Given the description of an element on the screen output the (x, y) to click on. 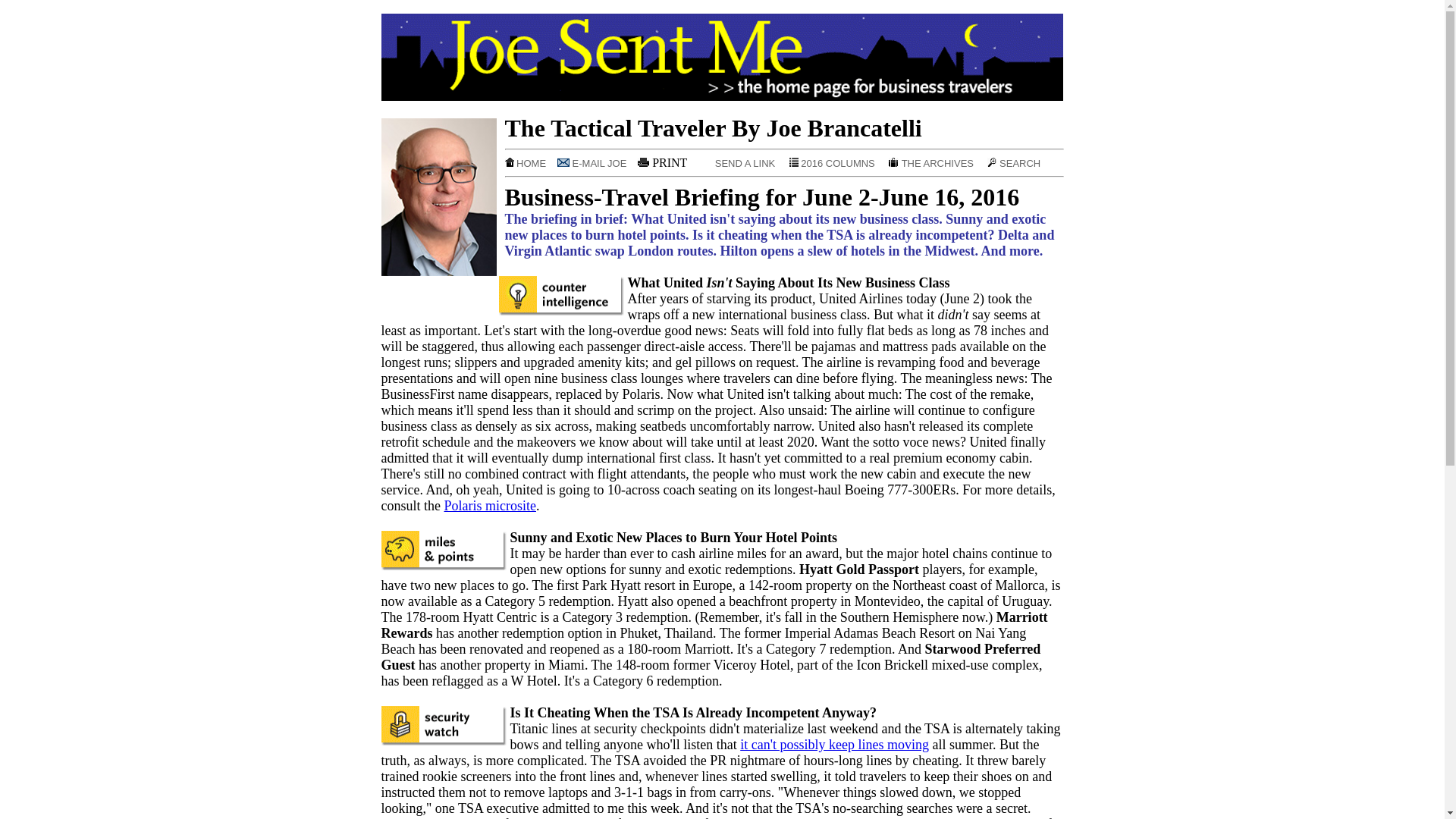
SEND A LINK     (742, 163)
HOME    (529, 163)
SEARCH (1014, 163)
Polaris microsite (489, 505)
PRINT    (666, 162)
E-MAIL JOE    (595, 163)
it can't possibly keep lines moving (833, 744)
THE ARCHIVES     (936, 163)
2016 COLUMNS     (837, 163)
